Given the description of an element on the screen output the (x, y) to click on. 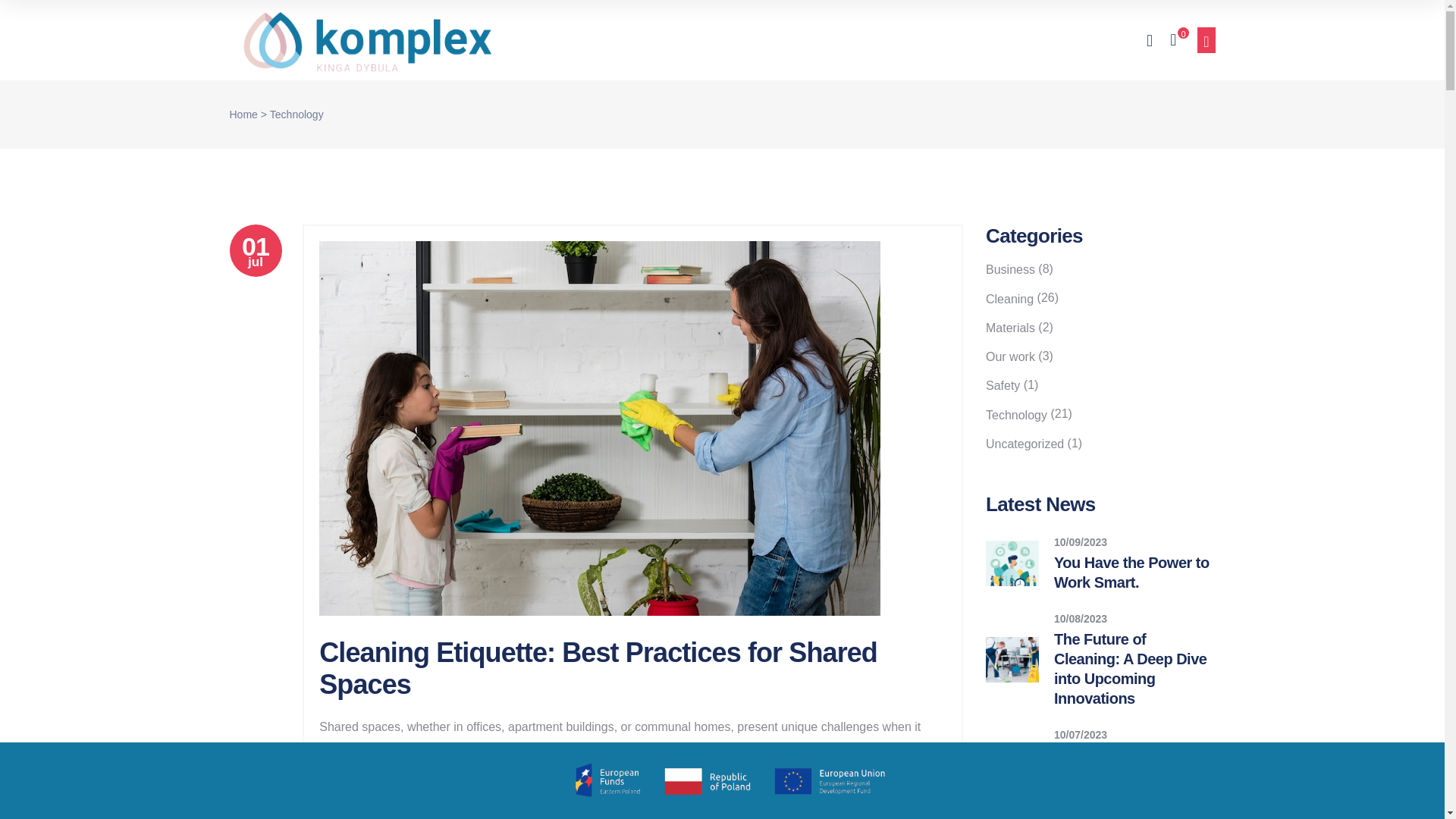
HOW WE WORK (556, 40)
CONFIGURATOR (863, 40)
BLOG (766, 40)
Piotr Nowak (384, 817)
Cleaning (523, 817)
OUR SERVICE (675, 40)
HOME (460, 40)
Cleaning Etiquette: Best Practices for Shared Spaces (597, 668)
CONTACT (972, 40)
Home (254, 250)
Cleaning Etiquette: Best Practices for Shared Spaces (242, 114)
